Given the description of an element on the screen output the (x, y) to click on. 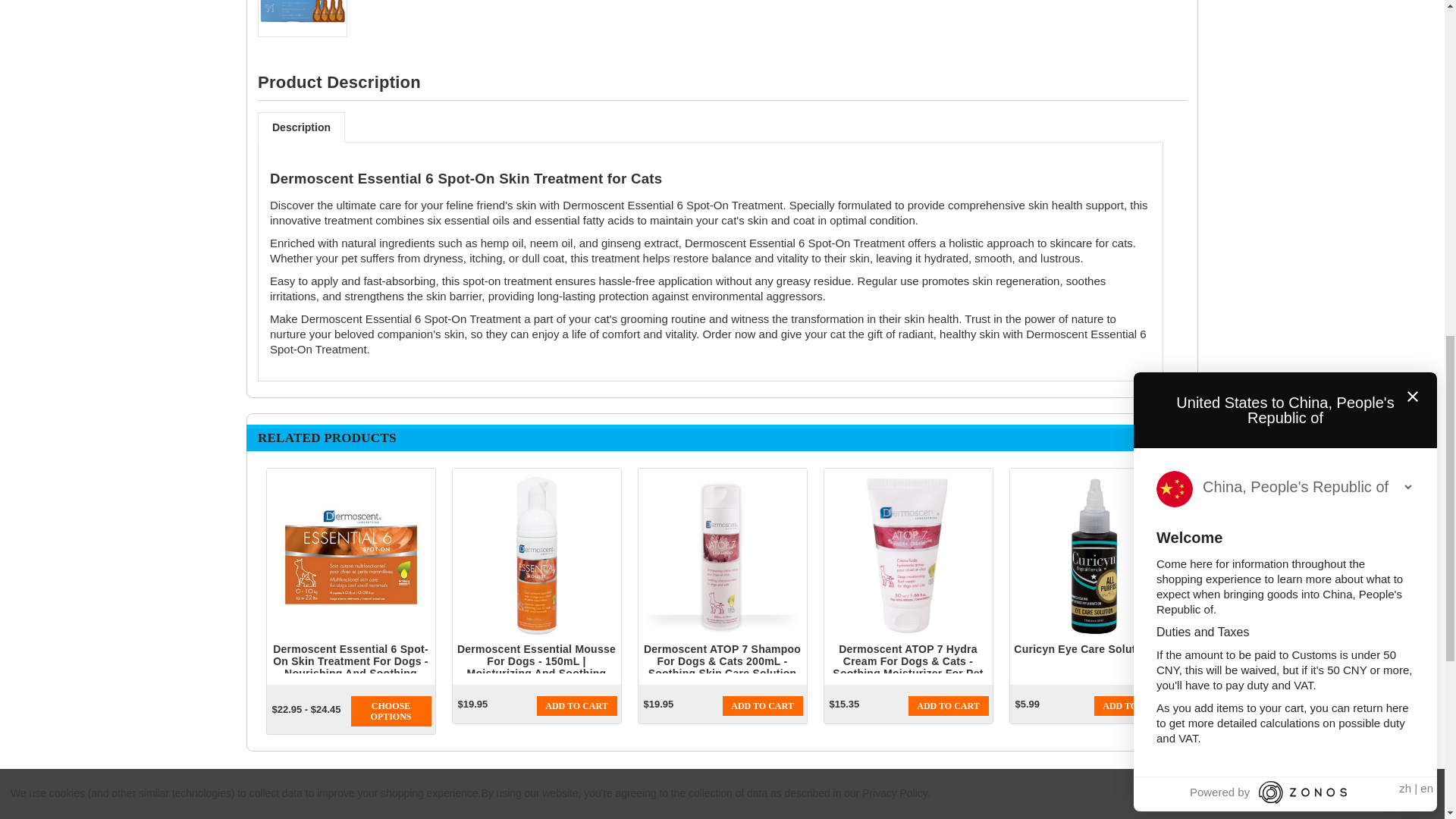
Curicyn Eye Care Solution 2oz (1092, 555)
